Given the description of an element on the screen output the (x, y) to click on. 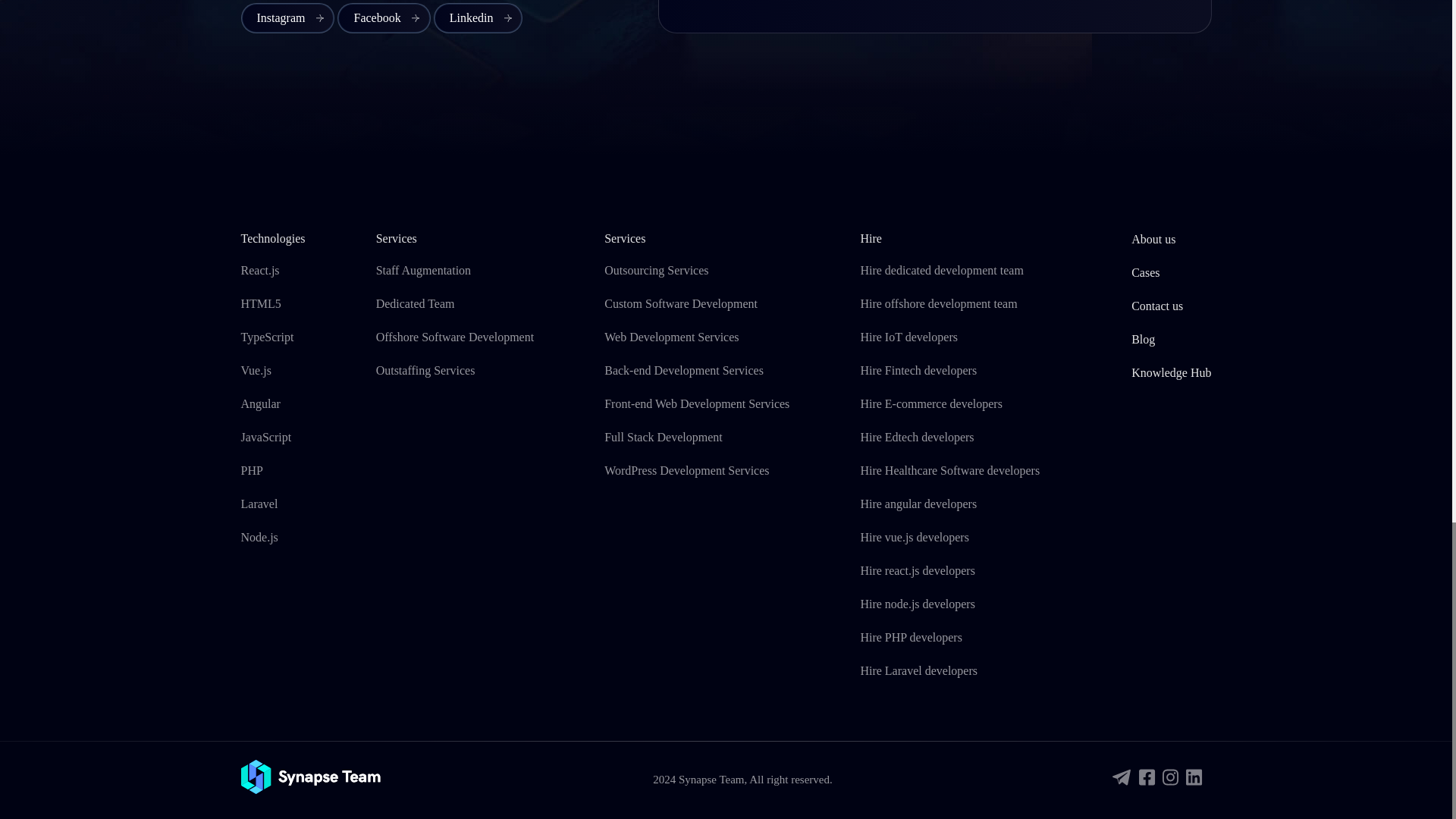
HTML5 (261, 303)
Linkedin (477, 18)
Instagram (287, 18)
Facebook (383, 18)
React.js (260, 269)
